Given the description of an element on the screen output the (x, y) to click on. 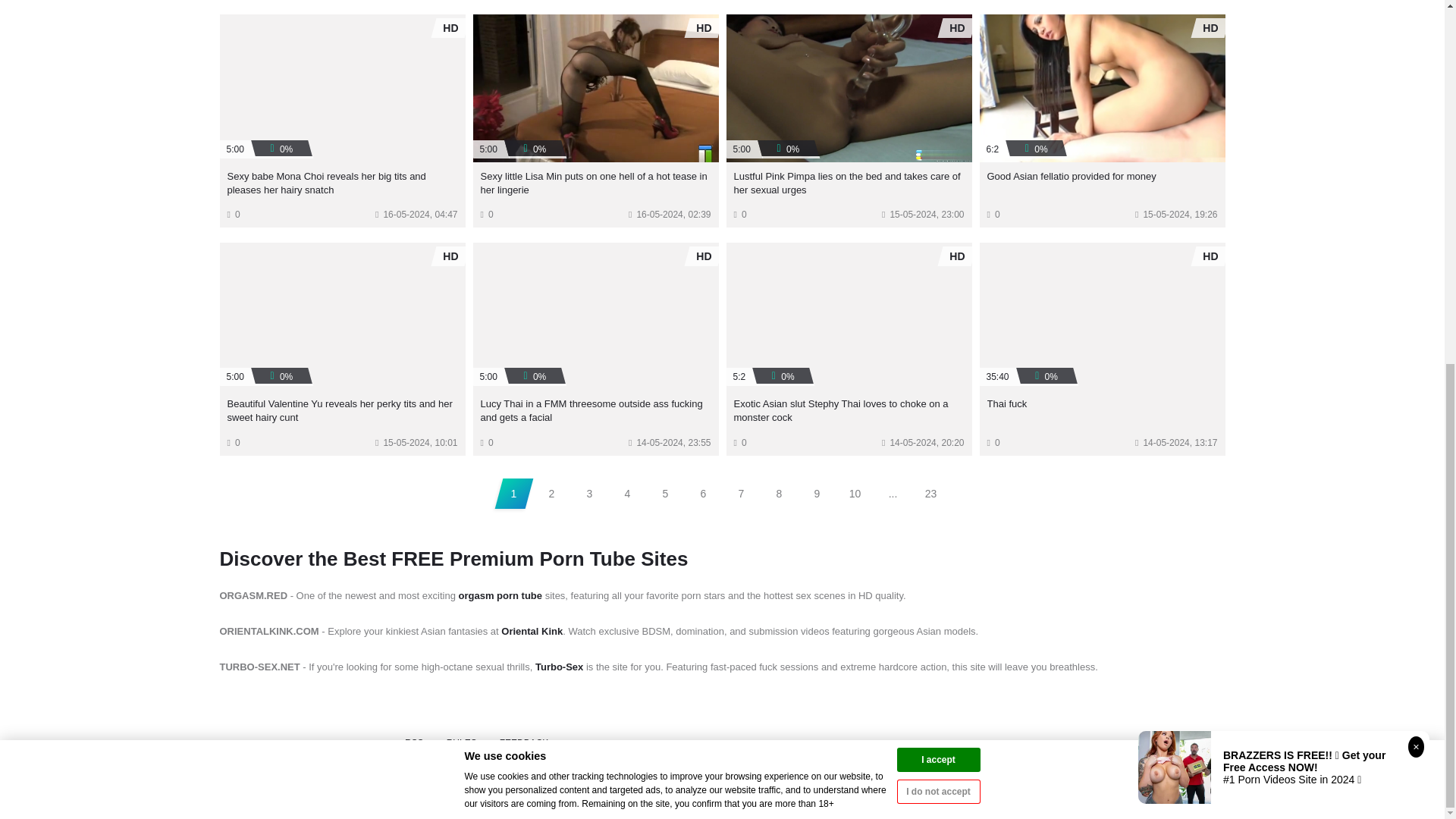
turbo sex (559, 666)
oriental porn (531, 631)
orgasm videos (500, 595)
